Given the description of an element on the screen output the (x, y) to click on. 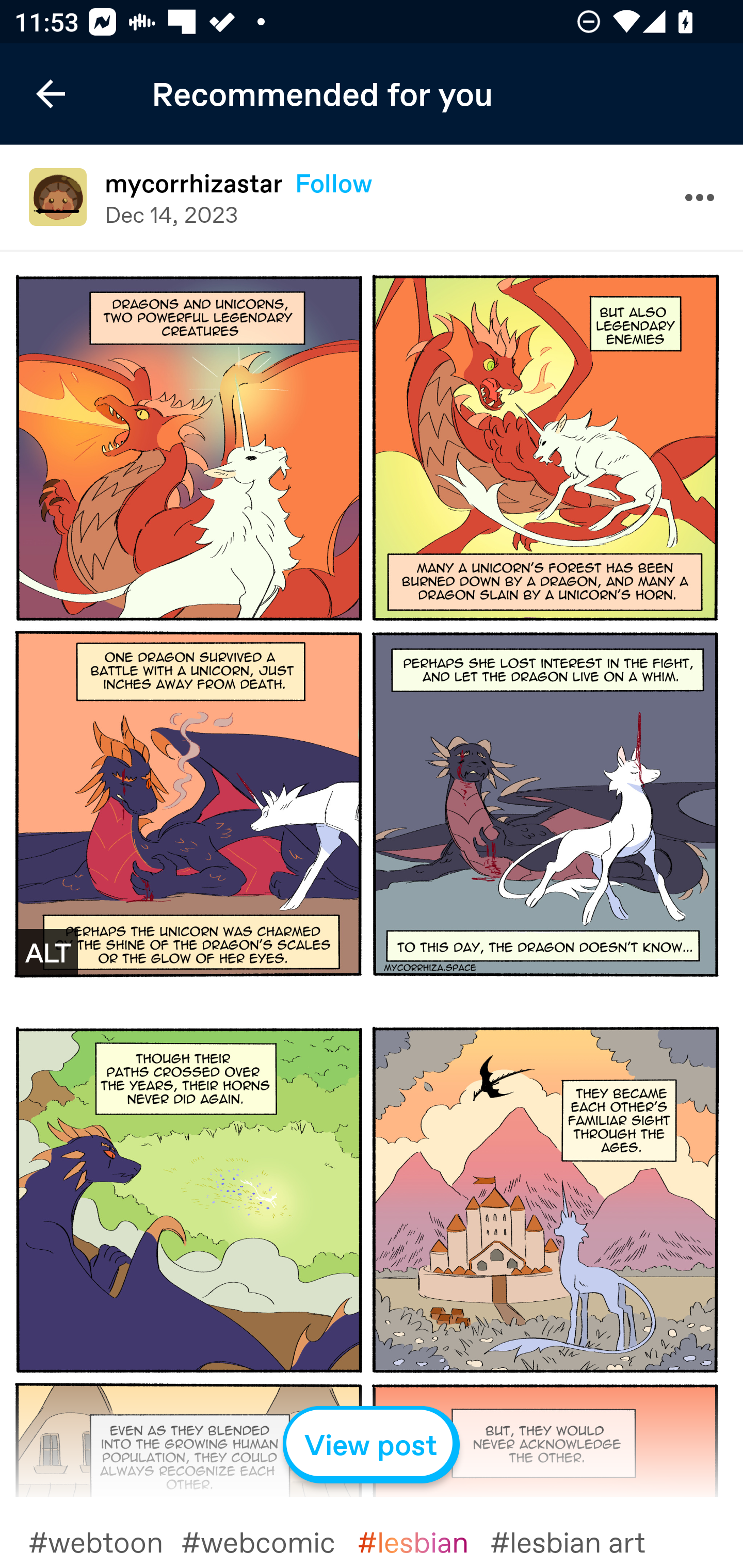
Navigate up (50, 93)
Follow (333, 182)
ALT (47, 952)
View post (371, 1444)
#webtoon (104, 1541)
#webcomic (269, 1541)
#lesbian (423, 1541)
#lesbian art (578, 1541)
